Given the description of an element on the screen output the (x, y) to click on. 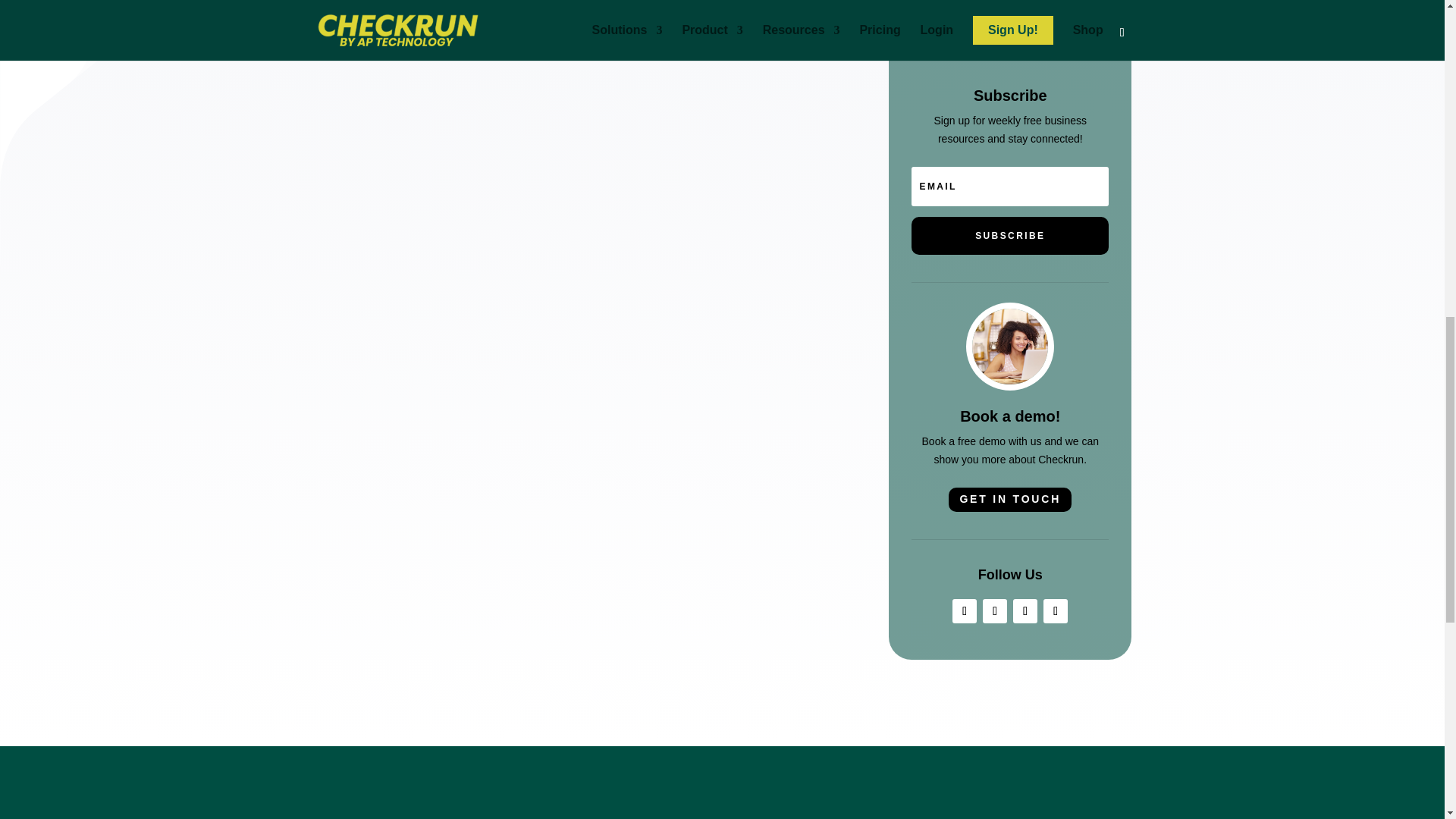
Follow on Facebook (964, 610)
Follow on Instagram (1055, 610)
Follow on X (994, 610)
Follow on LinkedIn (1024, 610)
woman-working (1010, 346)
